Given the description of an element on the screen output the (x, y) to click on. 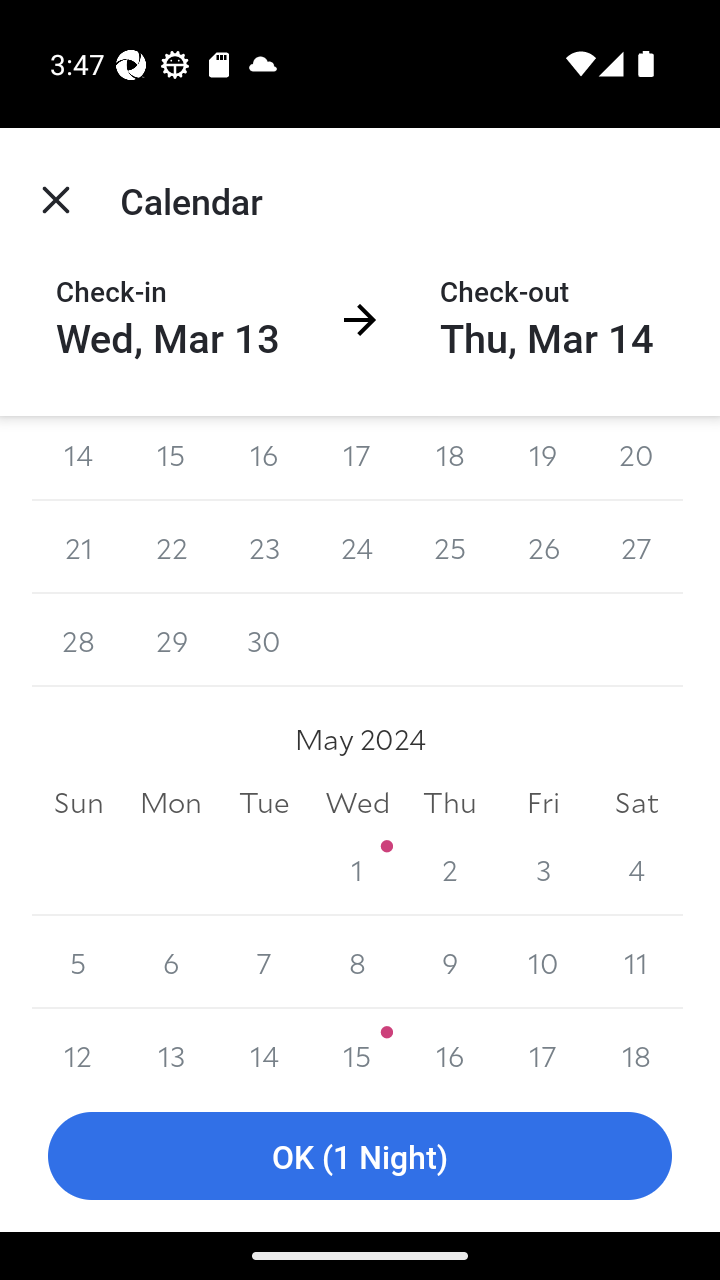
14 14 April 2024 (78, 458)
15 15 April 2024 (171, 458)
16 16 April 2024 (264, 458)
17 17 April 2024 (357, 458)
18 18 April 2024 (449, 458)
19 19 April 2024 (542, 458)
20 20 April 2024 (636, 458)
21 21 April 2024 (78, 546)
22 22 April 2024 (171, 546)
23 23 April 2024 (264, 546)
24 24 April 2024 (357, 546)
25 25 April 2024 (449, 546)
26 26 April 2024 (542, 546)
27 27 April 2024 (636, 546)
28 28 April 2024 (78, 640)
29 29 April 2024 (171, 640)
30 30 April 2024 (264, 640)
Sun (78, 802)
Mon (171, 802)
Tue (264, 802)
Wed (357, 802)
Thu (449, 802)
Fri (542, 802)
Sat (636, 802)
1 1 May 2024 (357, 869)
2 2 May 2024 (449, 869)
3 3 May 2024 (542, 869)
4 4 May 2024 (636, 869)
5 5 May 2024 (78, 962)
6 6 May 2024 (171, 962)
7 7 May 2024 (264, 962)
8 8 May 2024 (357, 962)
9 9 May 2024 (449, 962)
10 10 May 2024 (542, 962)
11 11 May 2024 (636, 962)
12 12 May 2024 (78, 1044)
13 13 May 2024 (171, 1044)
14 14 May 2024 (264, 1044)
15 15 May 2024 (357, 1044)
16 16 May 2024 (449, 1044)
17 17 May 2024 (542, 1044)
18 18 May 2024 (636, 1044)
OK (1 Night) (359, 1156)
